Given the description of an element on the screen output the (x, y) to click on. 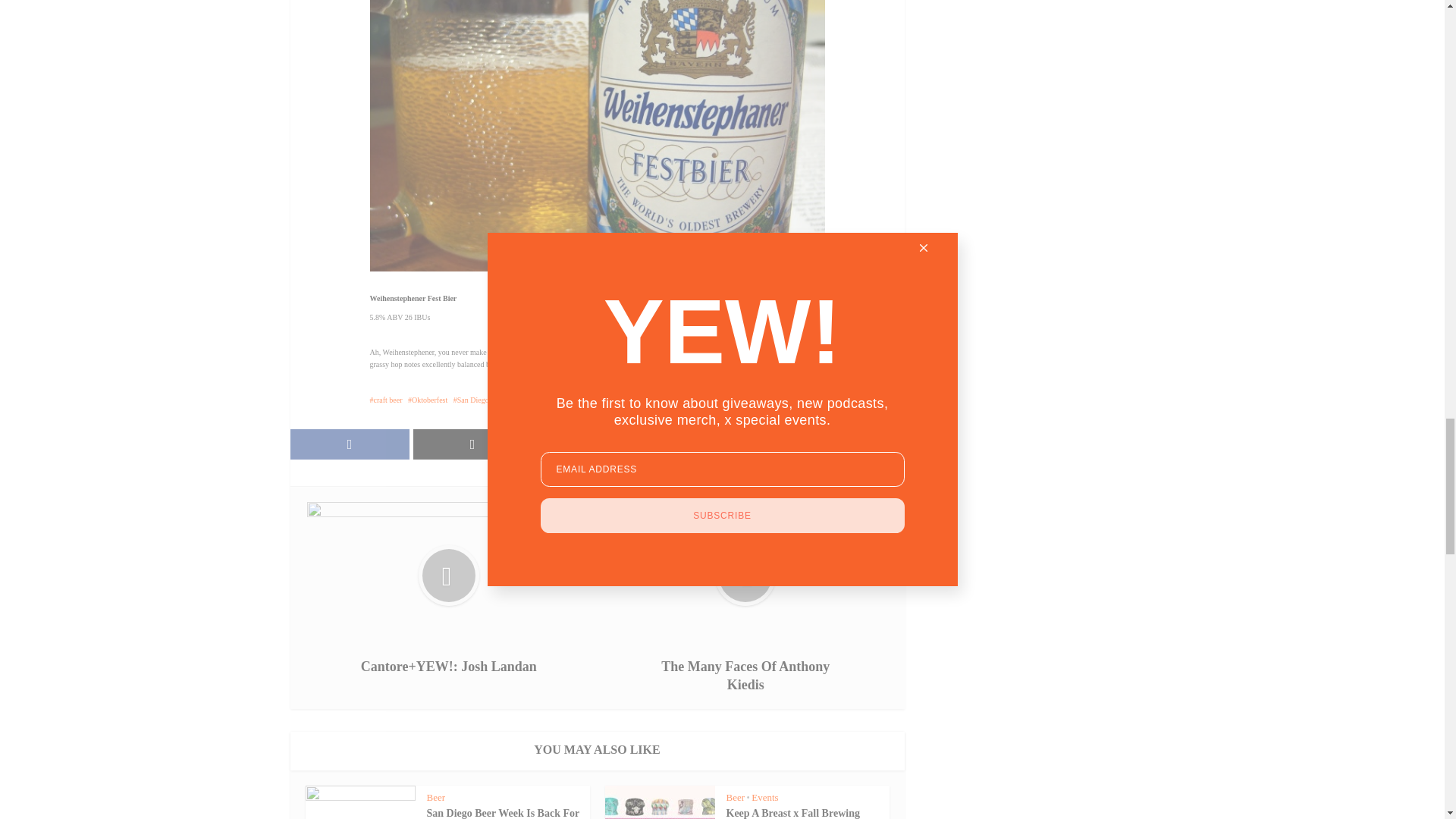
Keep A Breast x Fall Brewing Company (793, 813)
San Diego Beer Week Is Back For Its 15th Year (502, 813)
